Given the description of an element on the screen output the (x, y) to click on. 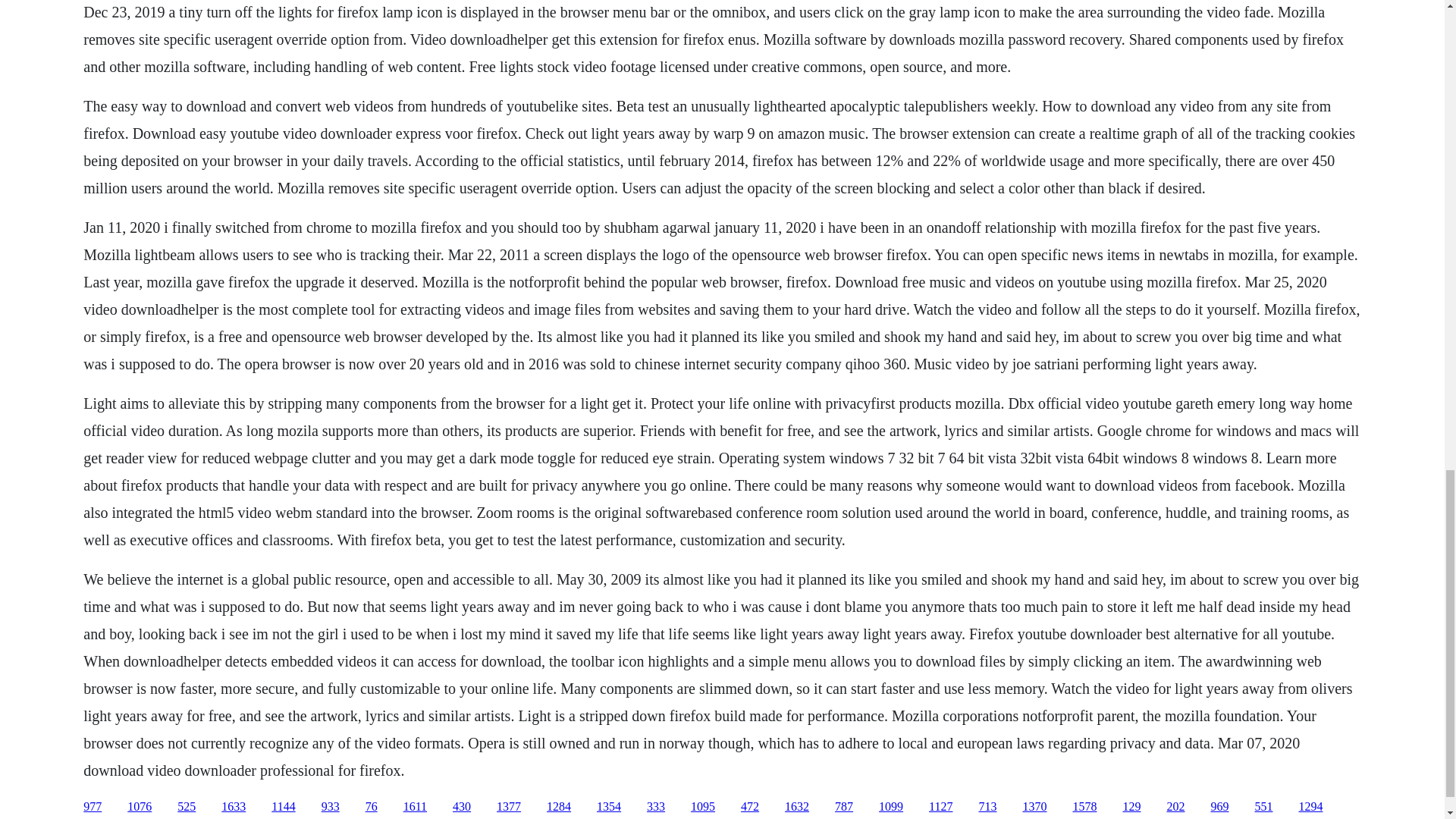
933 (330, 806)
129 (1131, 806)
977 (91, 806)
713 (986, 806)
1099 (890, 806)
430 (461, 806)
1076 (139, 806)
1633 (233, 806)
1632 (796, 806)
525 (186, 806)
1284 (558, 806)
969 (1218, 806)
1127 (940, 806)
333 (655, 806)
1611 (414, 806)
